Given the description of an element on the screen output the (x, y) to click on. 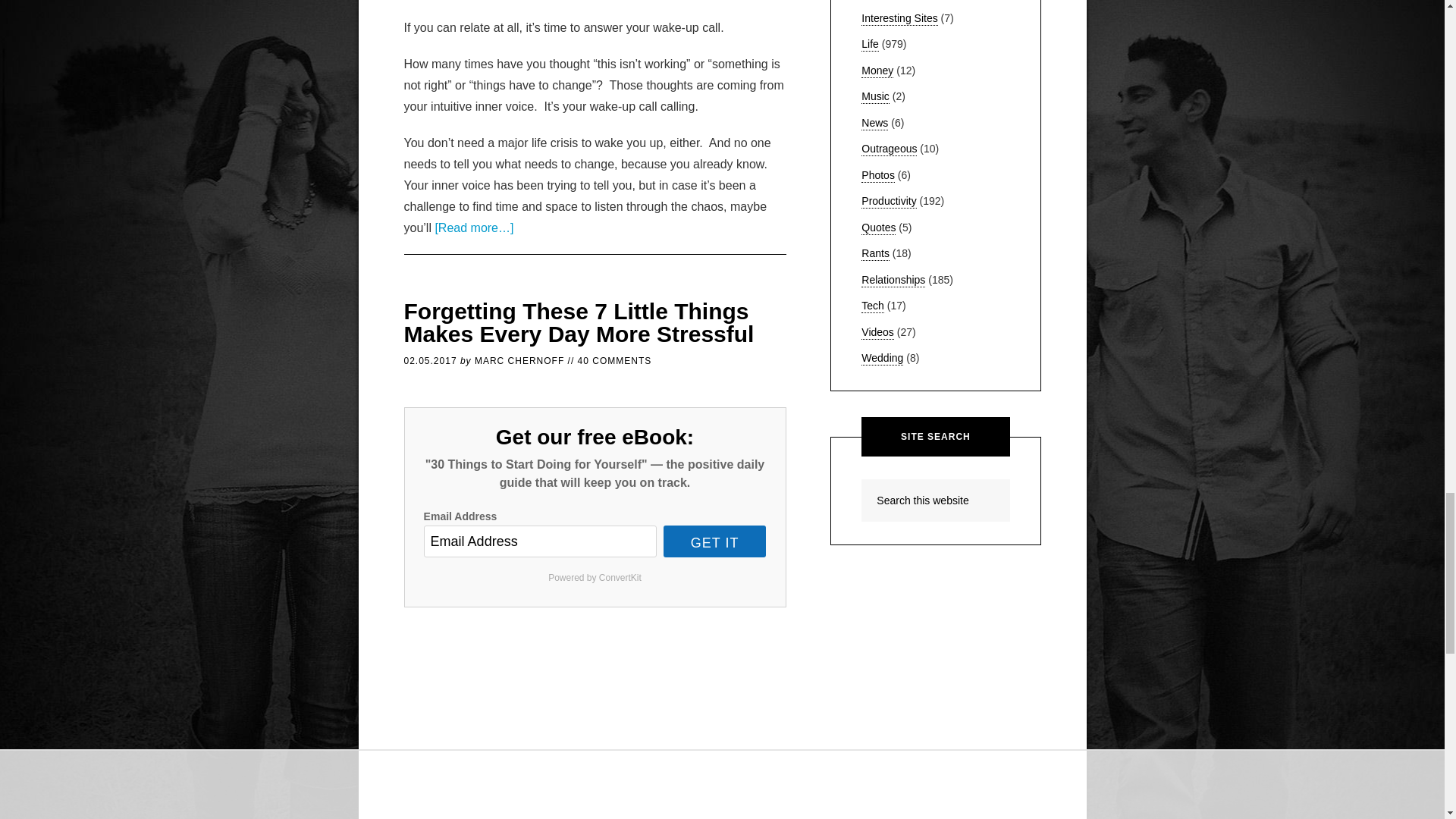
GET IT (715, 541)
Powered by ConvertKit (595, 577)
40 COMMENTS (615, 360)
